Given the description of an element on the screen output the (x, y) to click on. 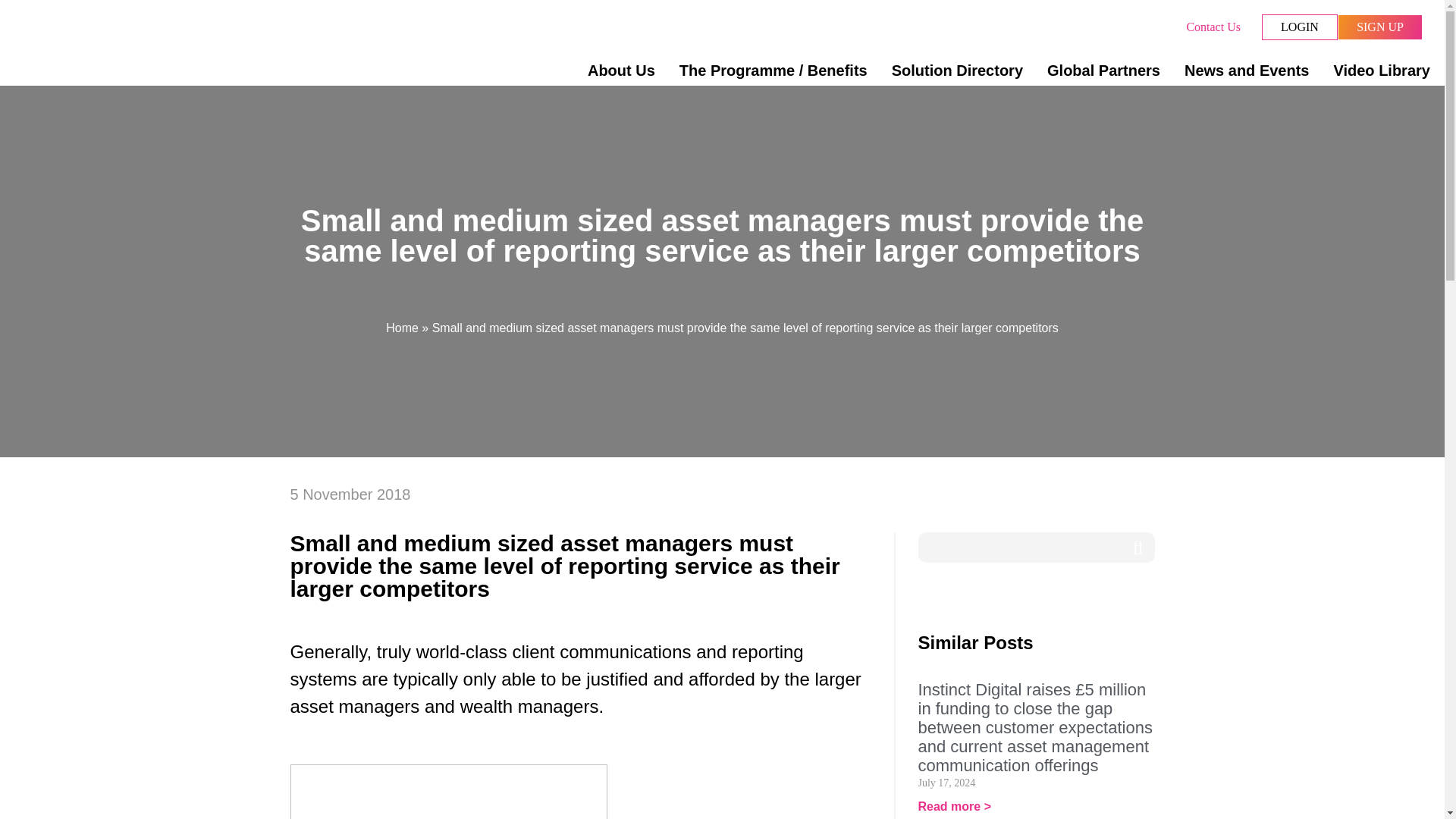
Video Library (1374, 70)
Contact Us (1213, 26)
Solution Directory (957, 70)
Contact Us (1213, 26)
SIGN UP (1380, 27)
About Us (620, 70)
News and Events (1247, 70)
Global Partners (1103, 70)
LOGIN (1300, 27)
